Given the description of an element on the screen output the (x, y) to click on. 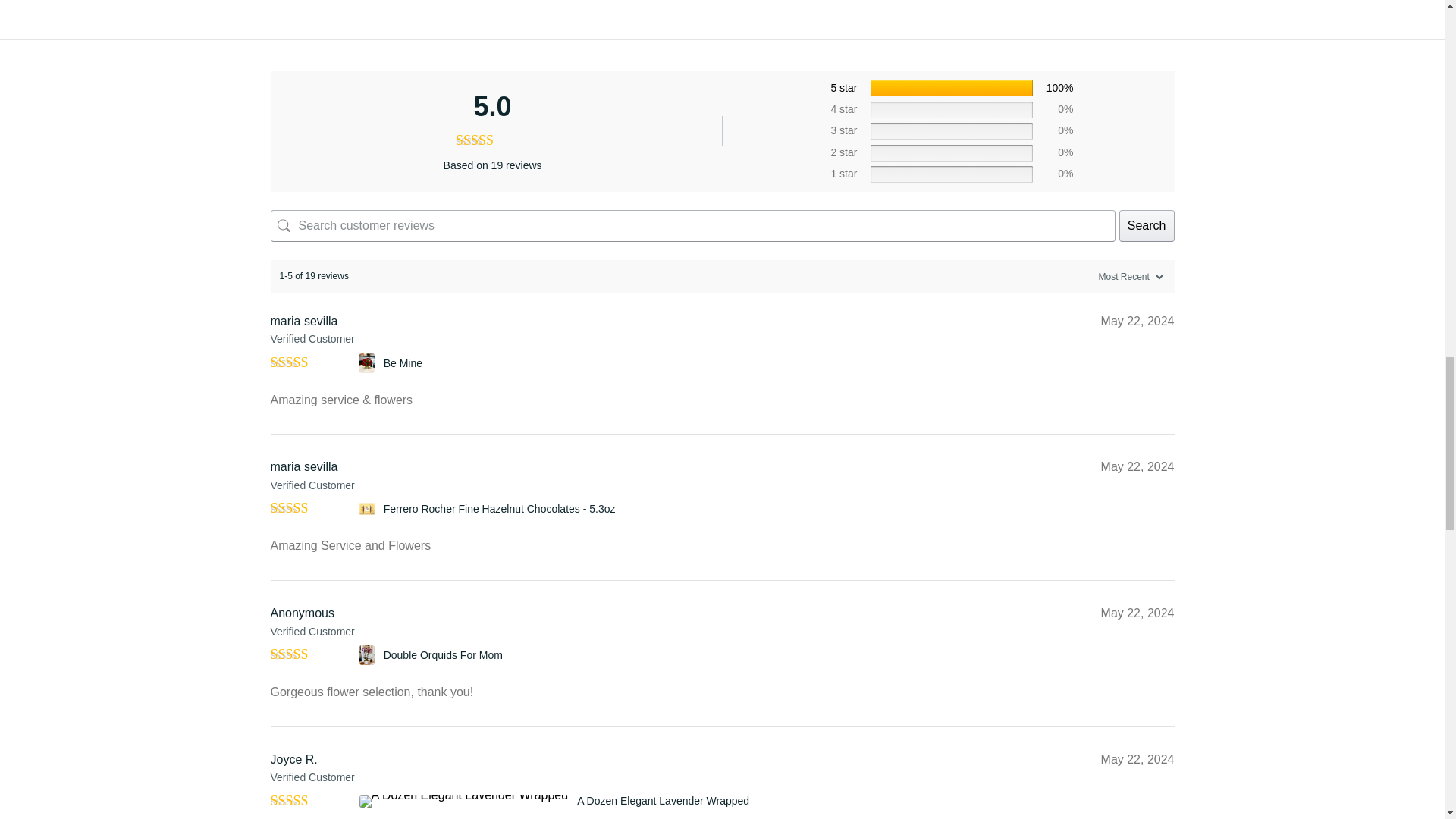
5 star (843, 87)
Be Mine (368, 362)
Ferrero Rocher Fine Hazelnut Chocolates - 5.3oz (368, 508)
Be Mine (403, 362)
